Given the description of an element on the screen output the (x, y) to click on. 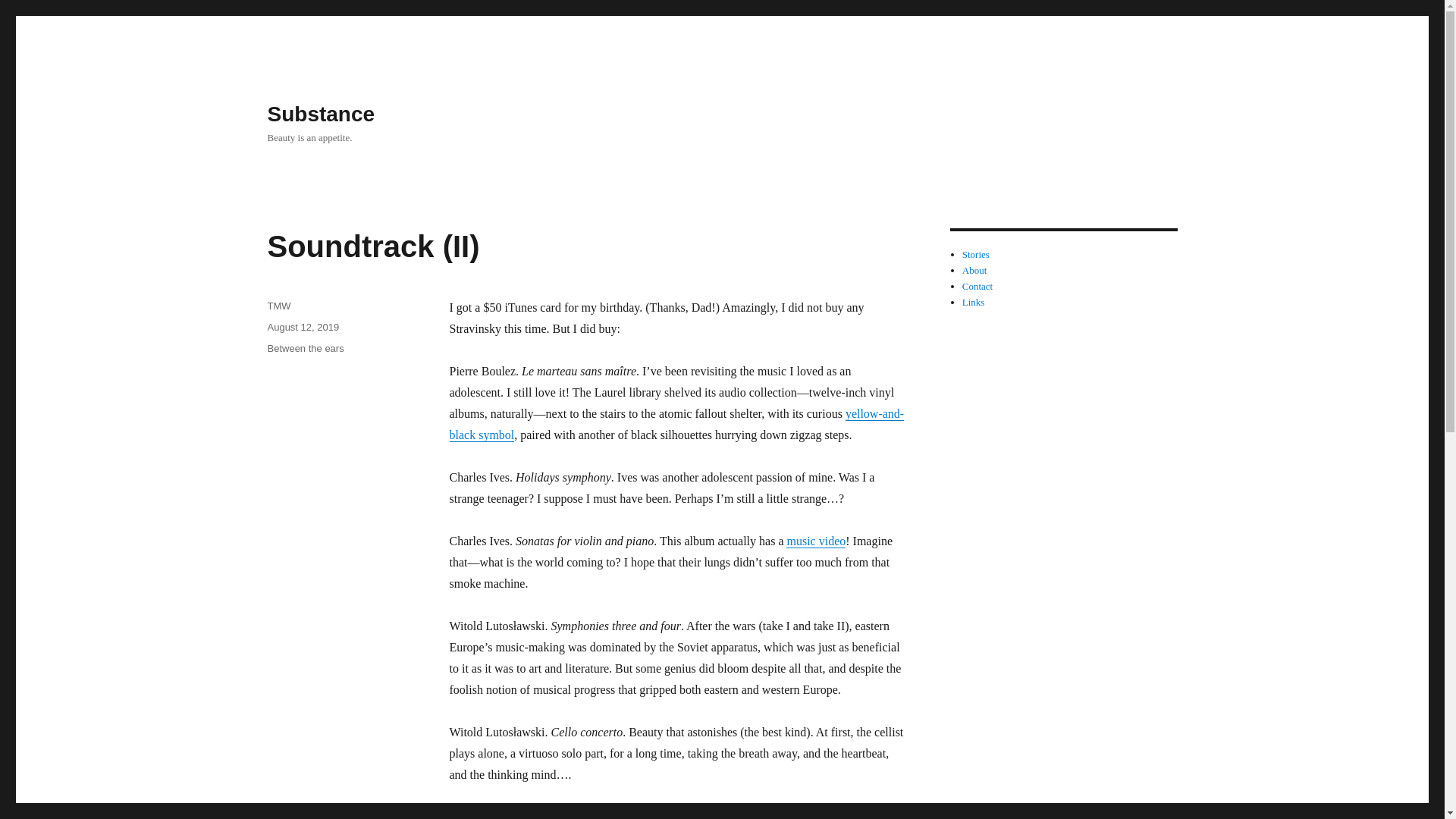
Substance (320, 114)
About (974, 270)
music video (815, 540)
Contact (977, 285)
Stories (976, 254)
Between the ears (304, 348)
TMW (277, 306)
August 12, 2019 (302, 326)
Links (973, 301)
yellow-and-black symbol (676, 424)
